Given the description of an element on the screen output the (x, y) to click on. 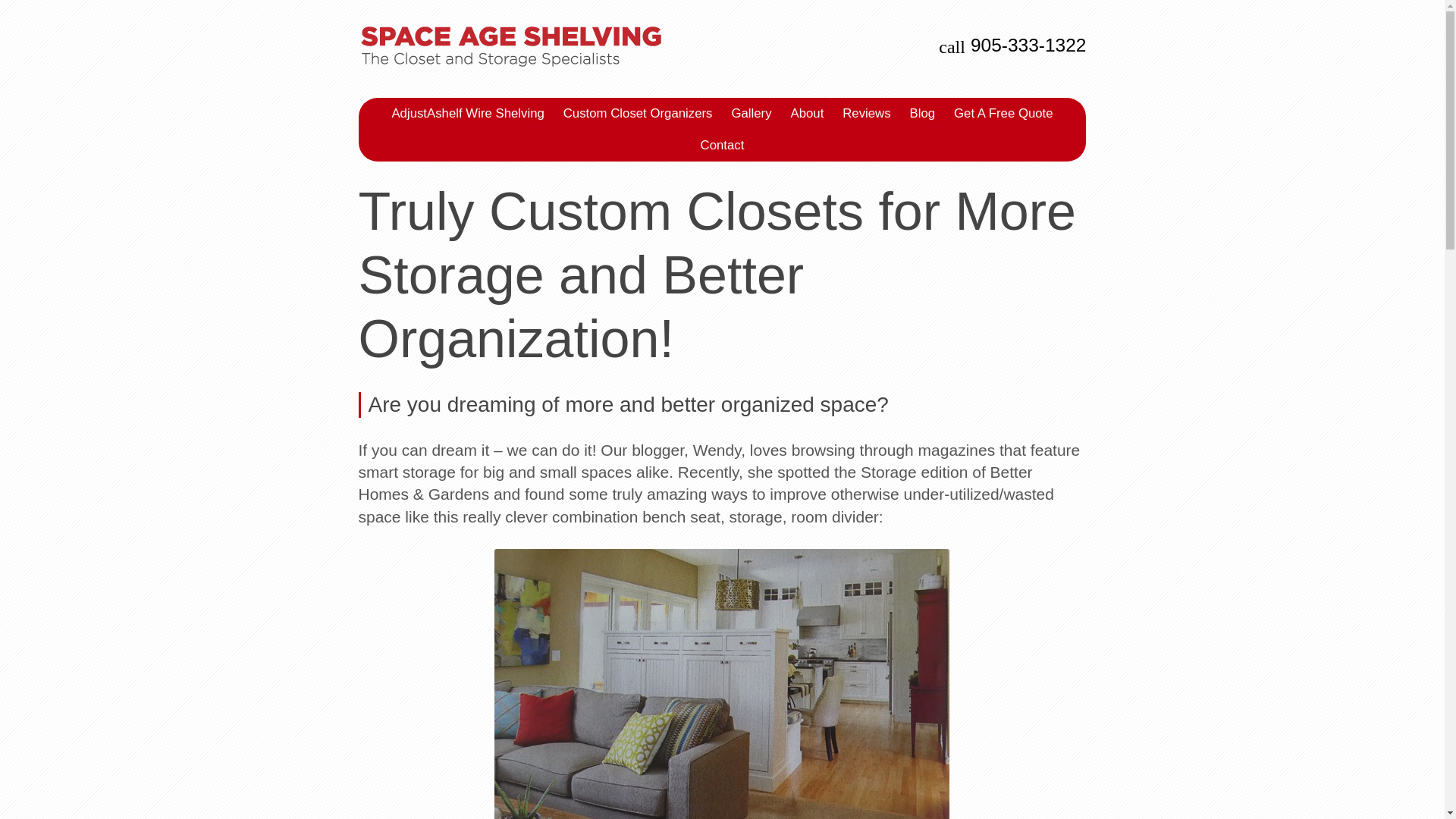
Contact (722, 145)
AdjustAshelf Wire Shelving (467, 113)
About (807, 113)
Gallery (750, 113)
Custom Closet Organizers (638, 113)
Reviews (866, 113)
Blog (923, 113)
AdjustAshelf Wire Shelving (467, 113)
905-333-1322 (1028, 46)
Get a Free Quote (1002, 113)
Custom Closet Organizers (638, 113)
Gallery (750, 113)
Contact (722, 145)
